Given the description of an element on the screen output the (x, y) to click on. 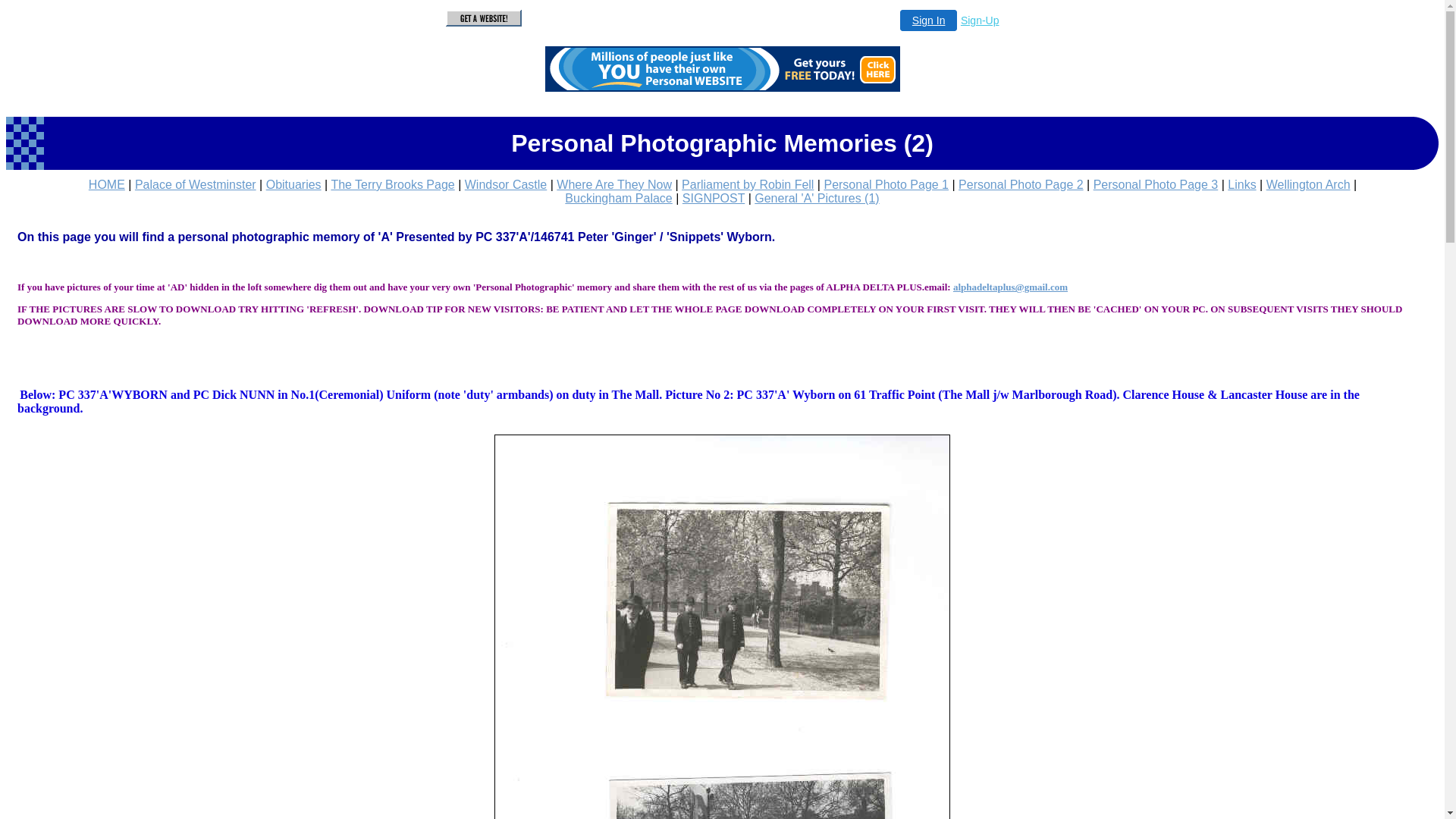
Wellington Arch Element type: text (1308, 184)
Personal Photo Page 1 Element type: text (885, 184)
HOME Element type: text (106, 184)
Windsor Castle Element type: text (505, 184)
Sign In Element type: text (928, 20)
General 'A' Pictures (1) Element type: text (816, 197)
Parliament by Robin Fell Element type: text (747, 184)
Palace of Westminster Element type: text (195, 184)
Personal Photo Page 3 Element type: text (1155, 184)
alphadeltaplus@gmail.com Element type: text (1010, 286)
Obituaries Element type: text (293, 184)
Buckingham Palace Element type: text (617, 197)
Links Element type: text (1241, 184)
SIGNPOST Element type: text (713, 197)
Sign-Up Element type: text (979, 20)
Where Are They Now Element type: text (613, 184)
Personal Photo Page 2 Element type: text (1020, 184)
The Terry Brooks Page Element type: text (392, 184)
